Given the description of an element on the screen output the (x, y) to click on. 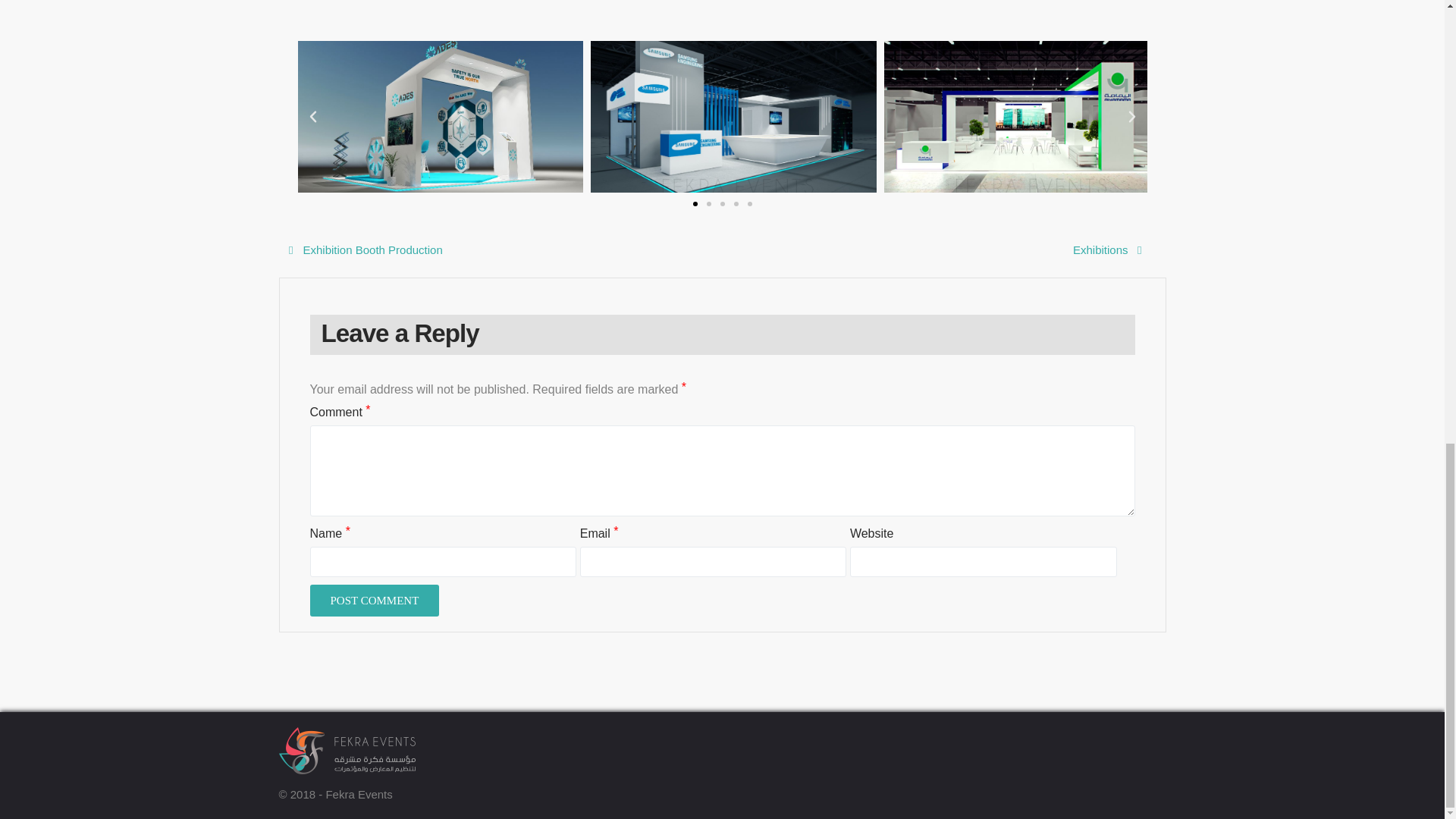
Exhibitions (1107, 249)
Post Comment (373, 600)
Exhibition Booth Production (360, 249)
Post Comment (373, 600)
